Given the description of an element on the screen output the (x, y) to click on. 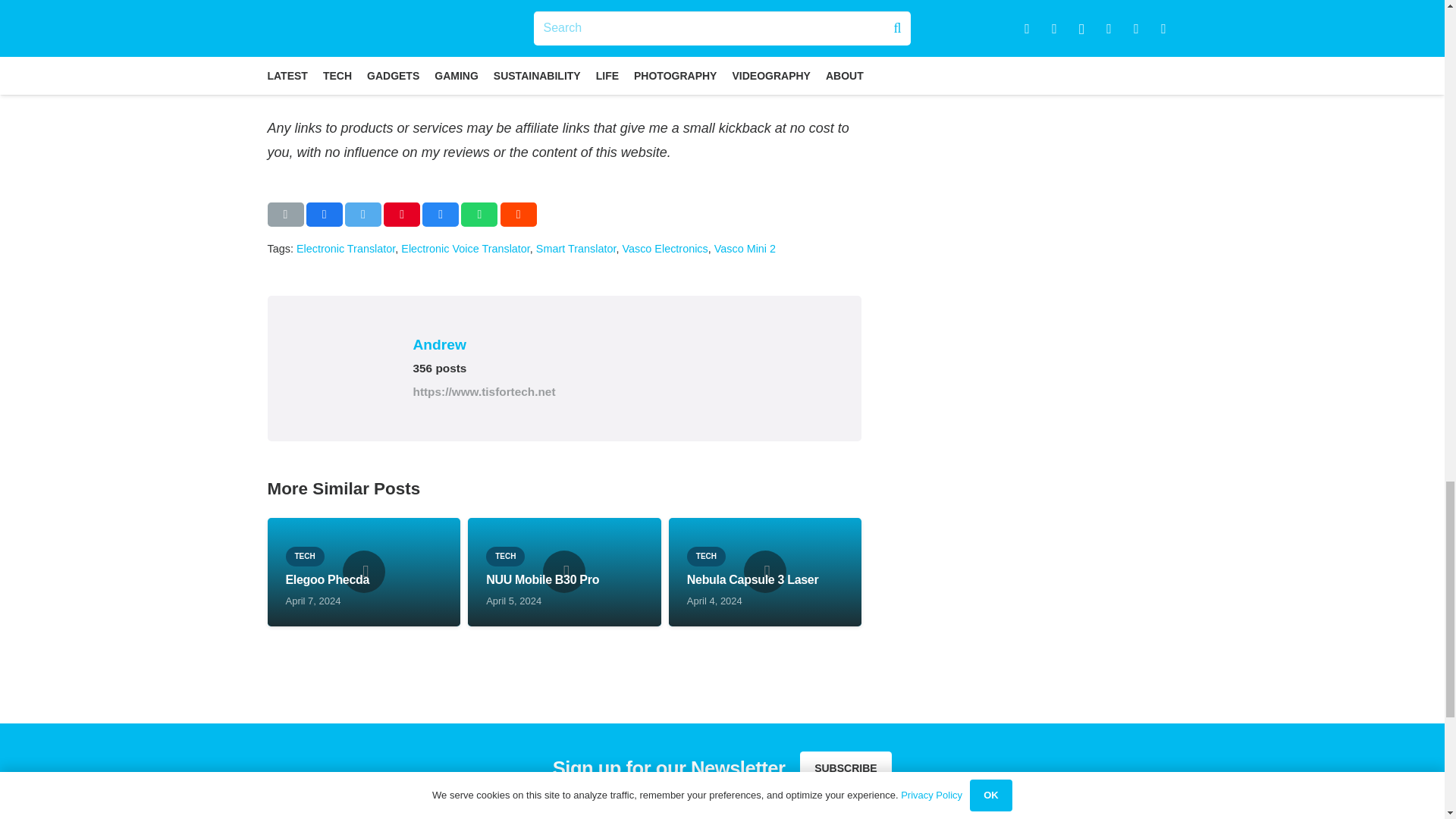
Share this (440, 214)
web3 (762, 48)
Electronic Voice Translator (465, 248)
Electronic Translator (345, 248)
Vasco Electronics (664, 248)
Share this (323, 214)
web1 (365, 48)
web2 (564, 48)
Andrew (624, 344)
Email this (284, 214)
Vasco Mini 2 (745, 248)
Pin this (402, 214)
Tweet this (363, 214)
Smart Translator (575, 248)
